Given the description of an element on the screen output the (x, y) to click on. 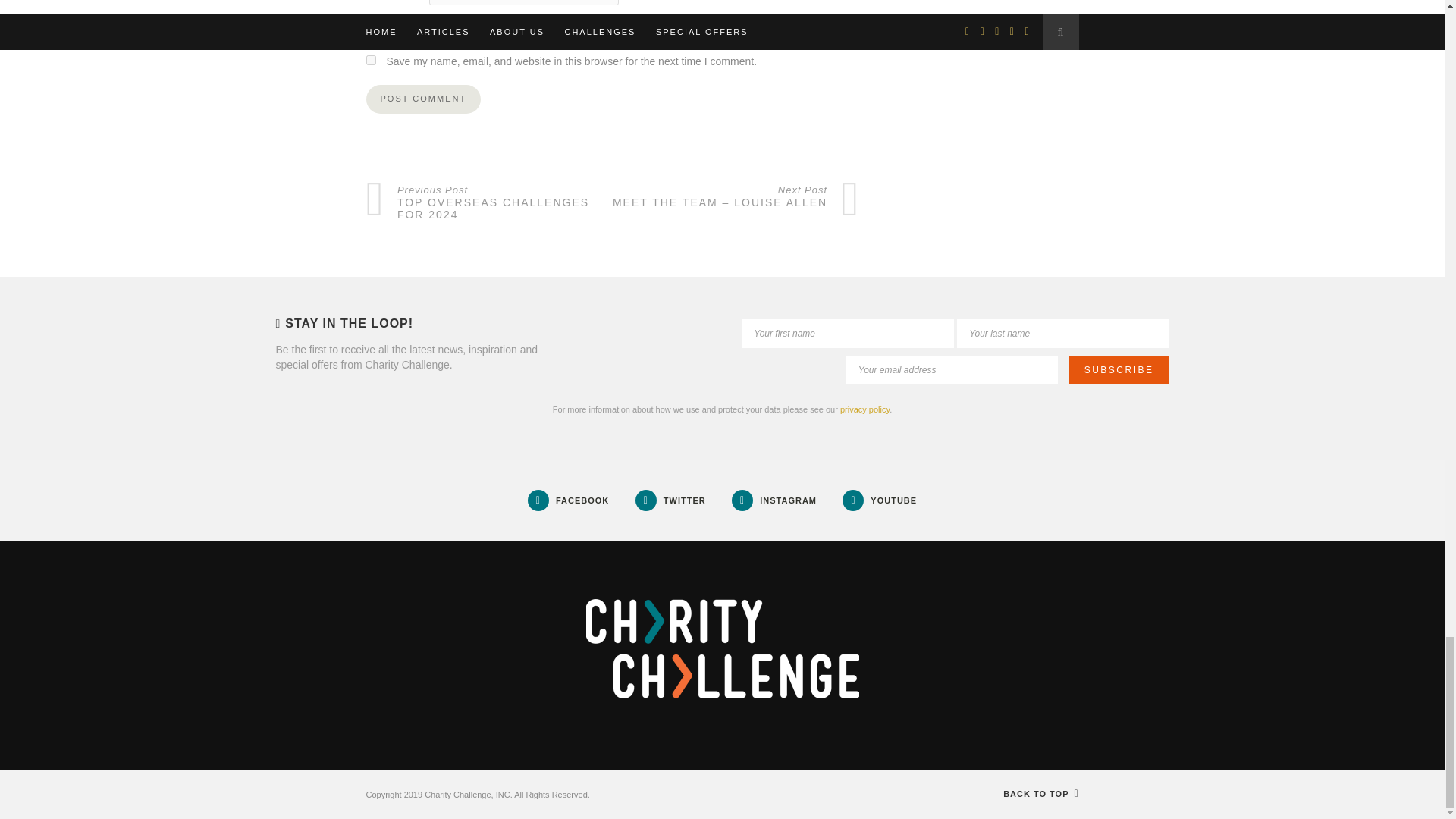
Post Comment (422, 99)
Subscribe (1118, 369)
yes (370, 60)
